Given the description of an element on the screen output the (x, y) to click on. 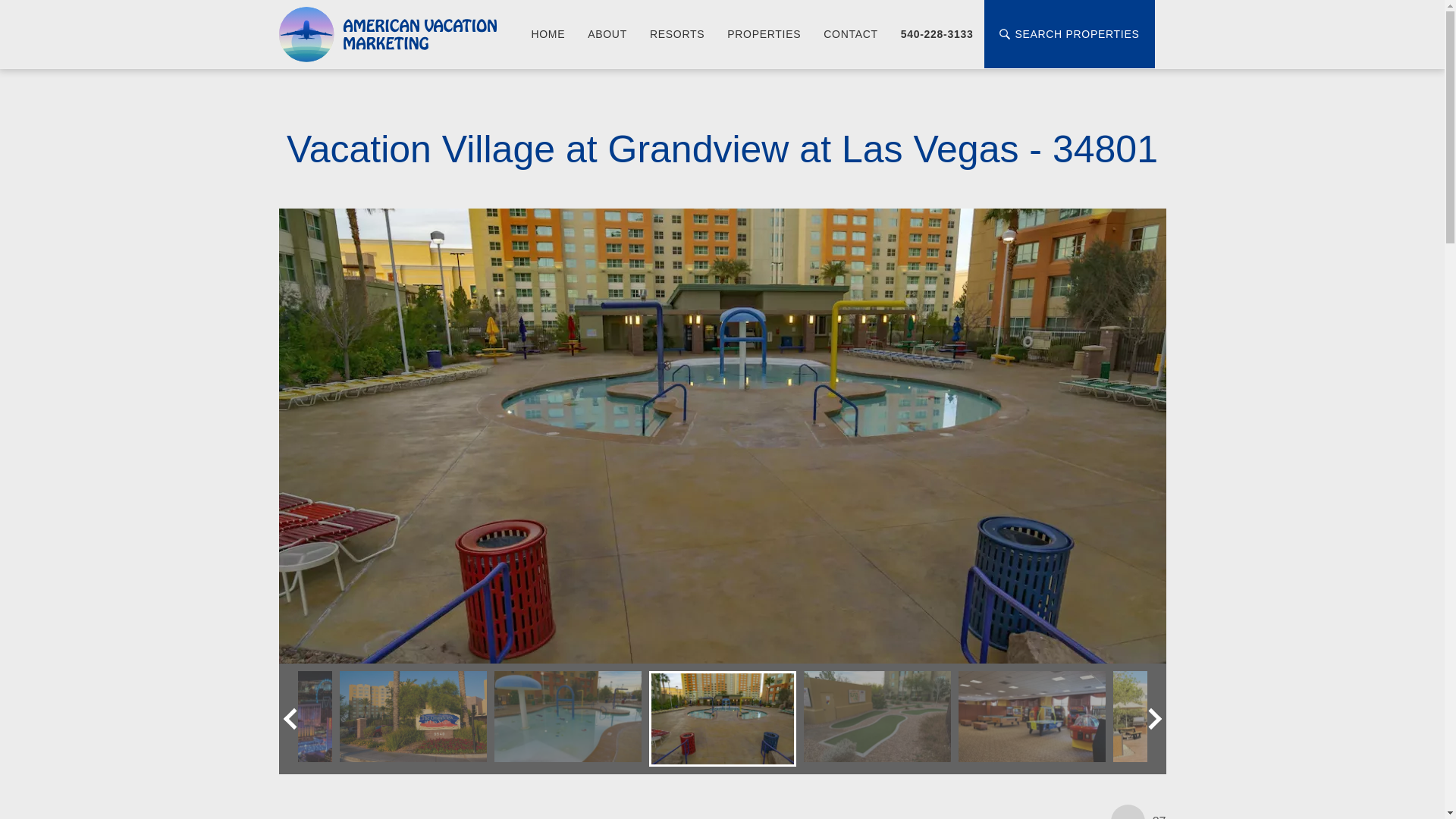
Properties (764, 34)
HOME (547, 34)
Previous (293, 718)
About (607, 34)
Resorts (677, 34)
540-228-3133 (937, 34)
Contact (850, 34)
Next (1150, 718)
PROPERTIES (764, 34)
Home (547, 34)
540-228-3133 (937, 34)
RESORTS (677, 34)
CONTACT (850, 34)
ABOUT (607, 34)
